Given the description of an element on the screen output the (x, y) to click on. 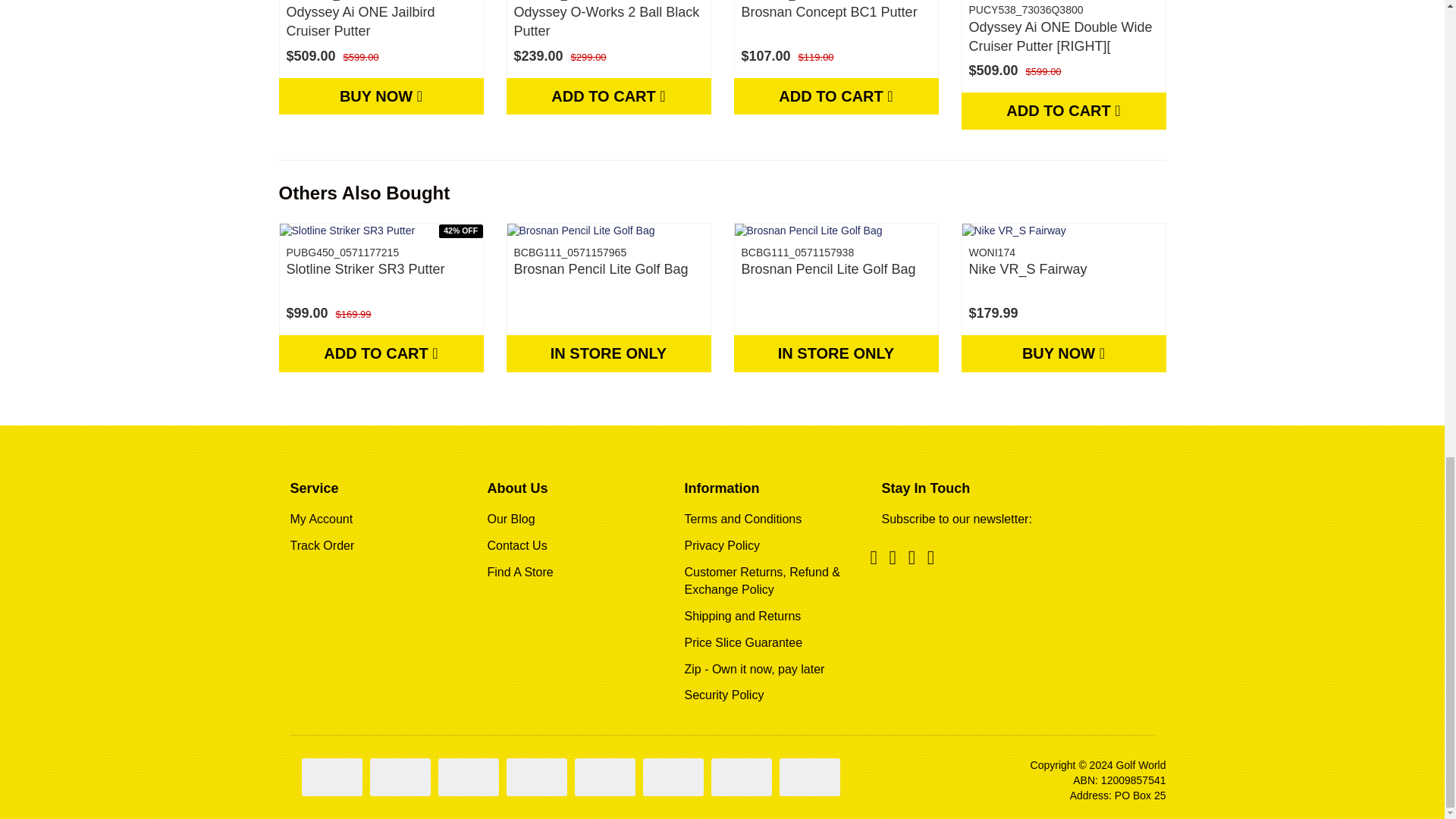
Add to Cart (608, 95)
Brosnan Concept BC1 Putter (829, 11)
Slotline Striker SR3 Putter (365, 268)
Odyssey O-Works 2 Ball Black Putter (606, 21)
Add to Cart (836, 95)
Buying Options (381, 95)
Odyssey Ai ONE Jailbird Cruiser Putter (360, 21)
Add to Cart (1063, 110)
